Given the description of an element on the screen output the (x, y) to click on. 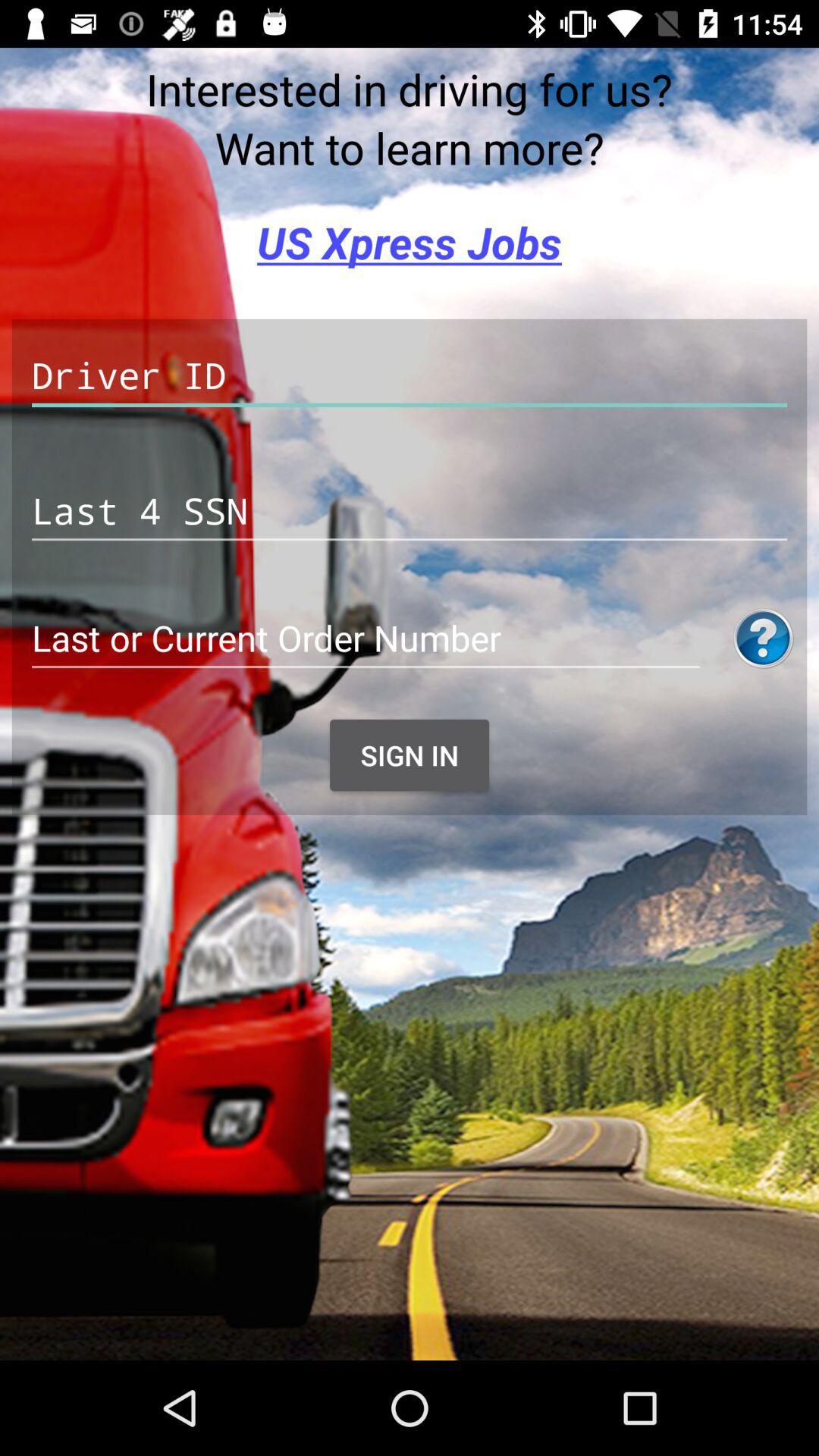
enter driver id (409, 375)
